Given the description of an element on the screen output the (x, y) to click on. 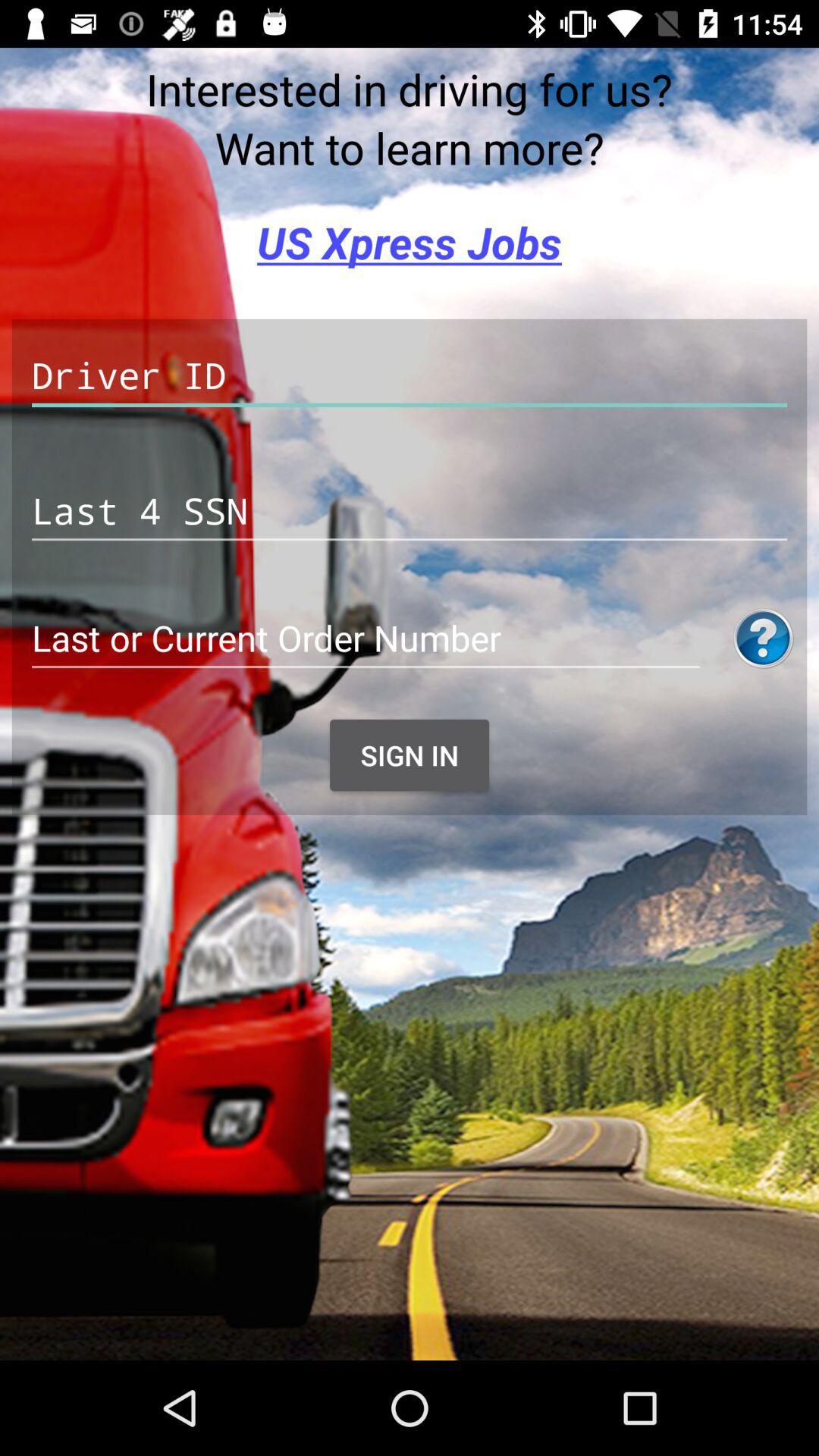
enter driver id (409, 375)
